Given the description of an element on the screen output the (x, y) to click on. 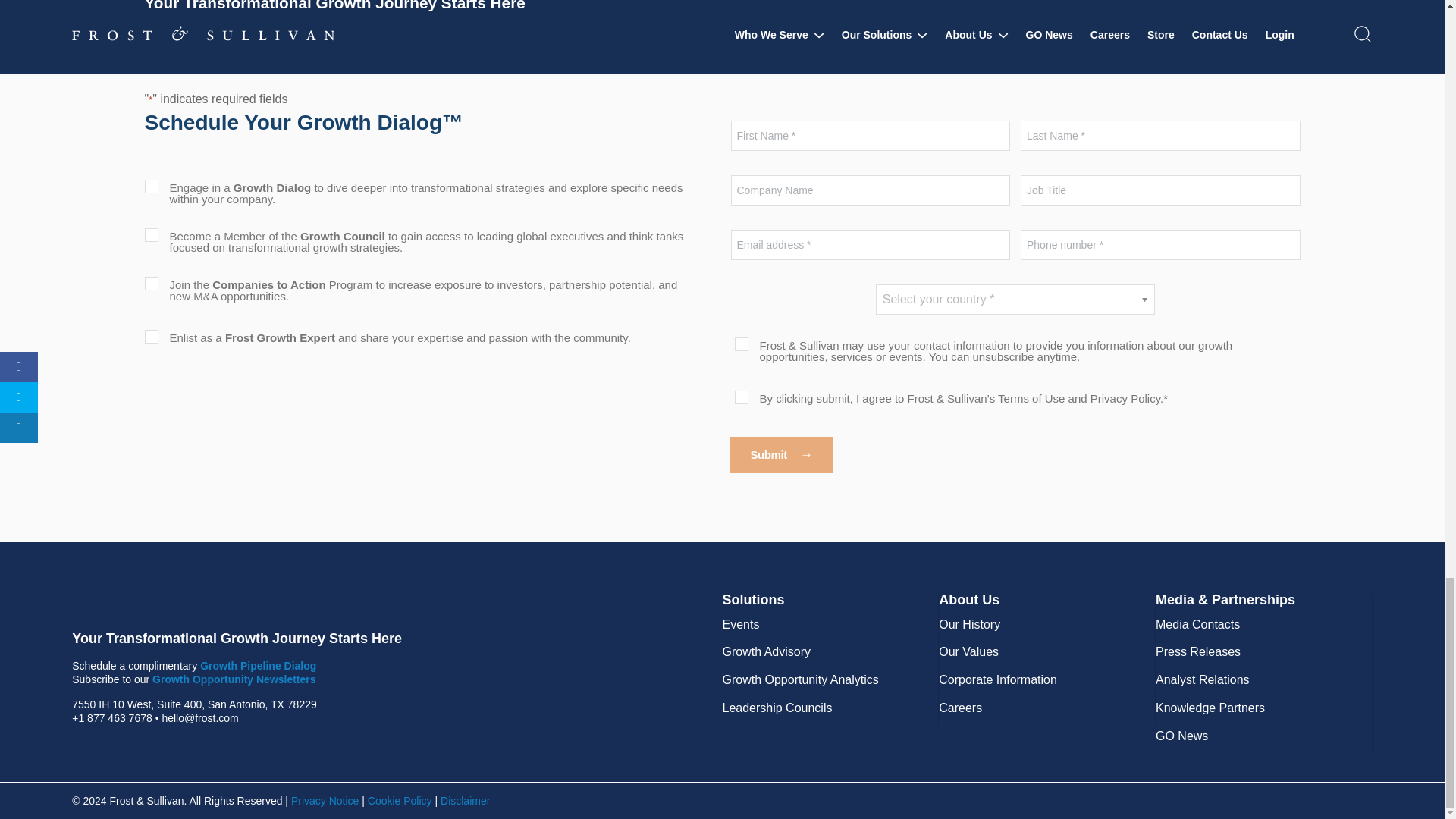
frostsullivanlogo (223, 601)
